Given the description of an element on the screen output the (x, y) to click on. 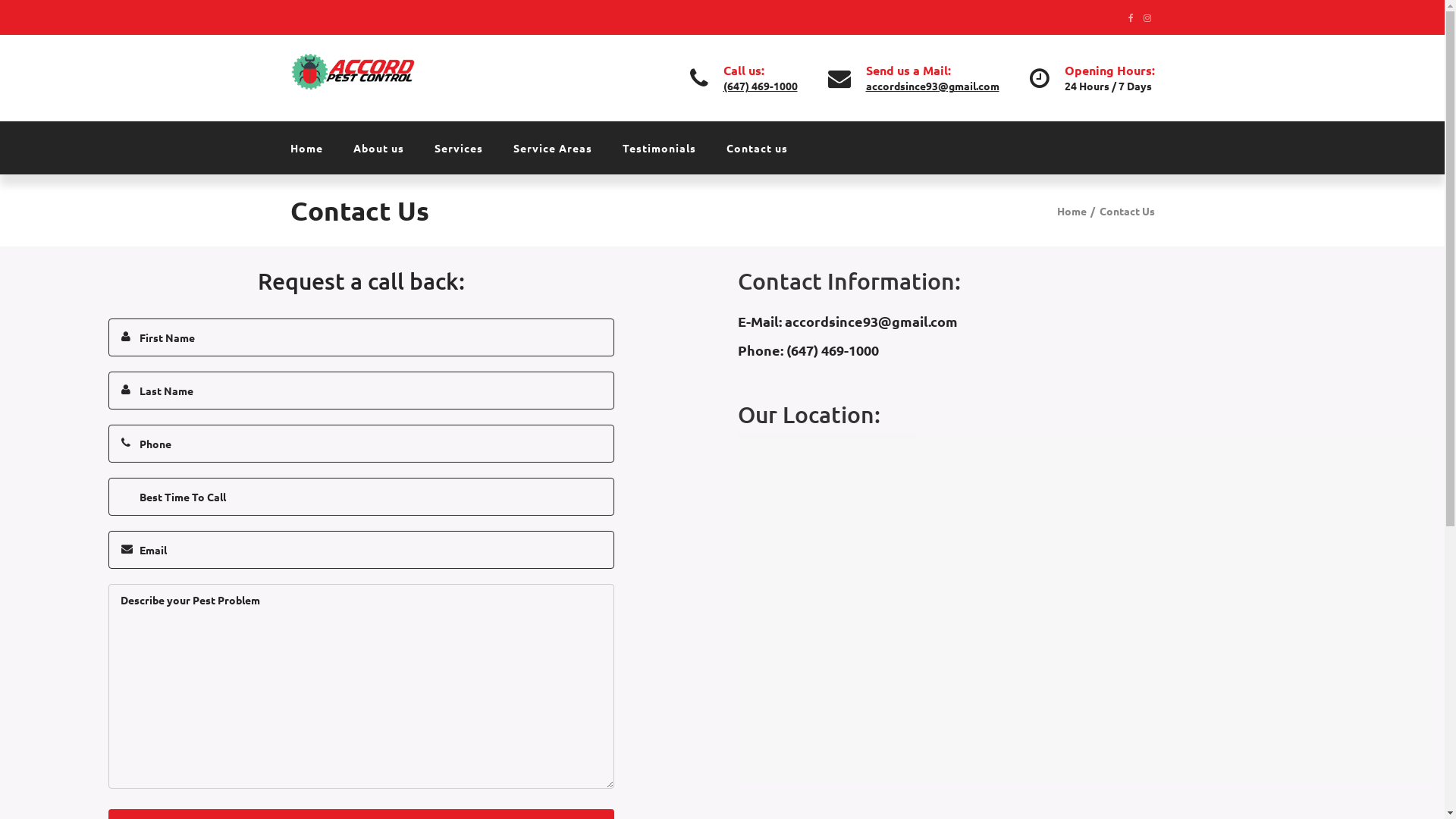
accordsince93@gmail.com Element type: text (932, 85)
Testimonials Element type: text (658, 147)
Home Element type: text (1076, 210)
Contact us Element type: text (757, 147)
Services Element type: text (457, 147)
accordsince93@gmail.com Element type: text (870, 320)
(647) 469-1000 Element type: text (831, 349)
Home Element type: text (313, 147)
(647) 469-1000 Element type: text (760, 85)
About us Element type: text (378, 147)
Service Areas Element type: text (551, 147)
